Given the description of an element on the screen output the (x, y) to click on. 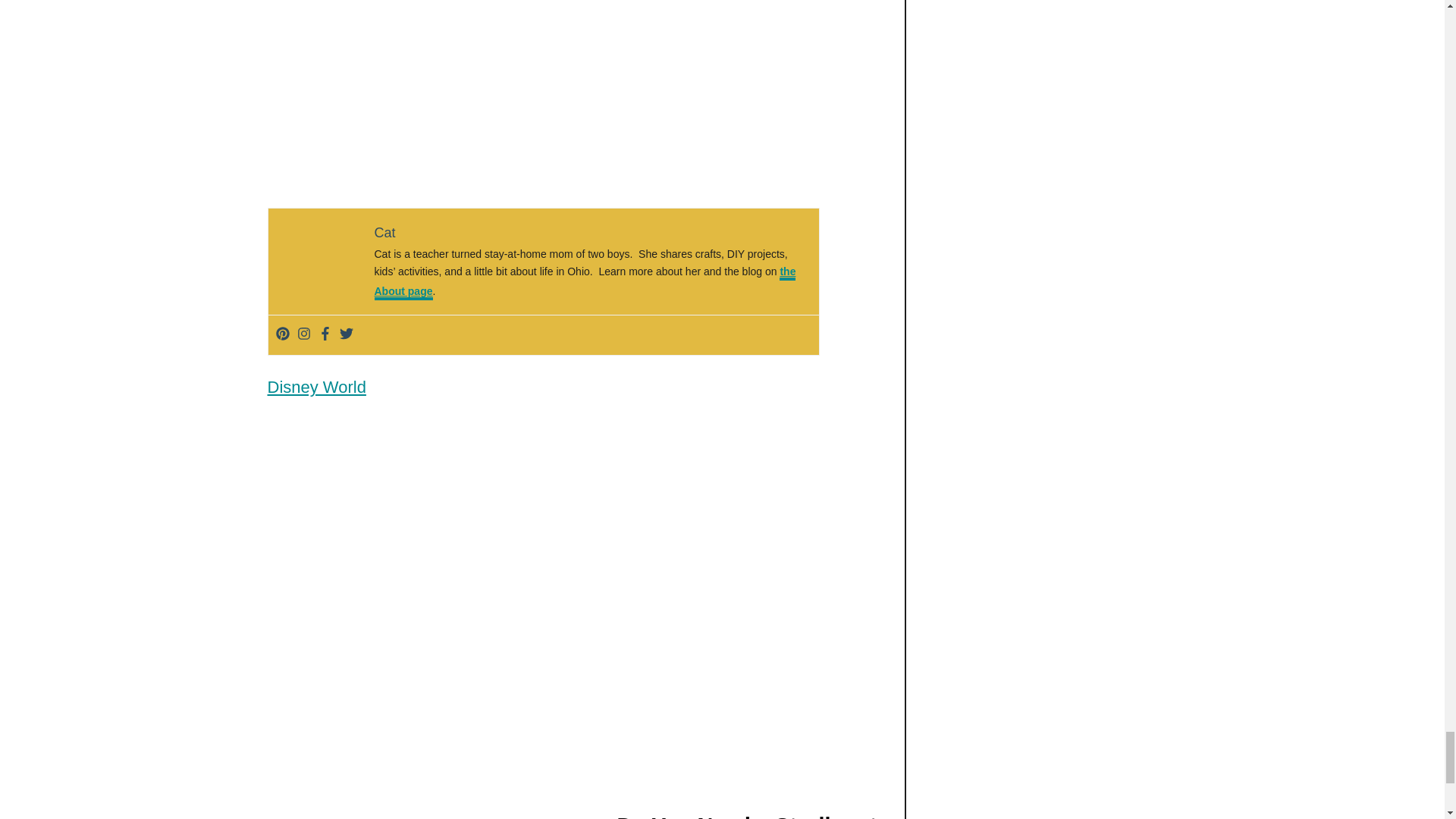
Cat (385, 232)
the About page (585, 282)
Disney World (315, 386)
Do You Need a Stroller at Disney World? (746, 813)
